Given the description of an element on the screen output the (x, y) to click on. 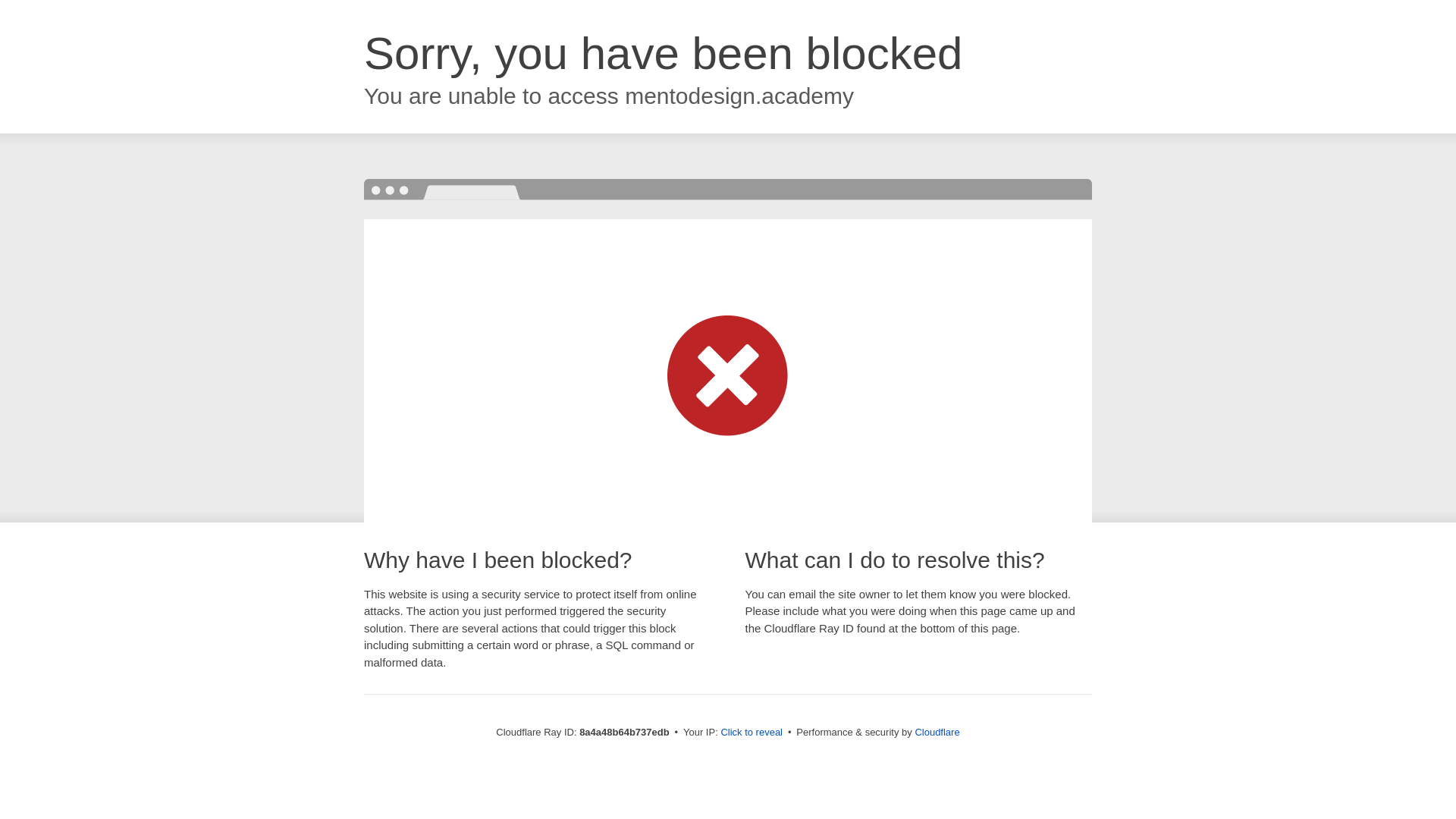
Click to reveal (751, 732)
Cloudflare (936, 731)
